Given the description of an element on the screen output the (x, y) to click on. 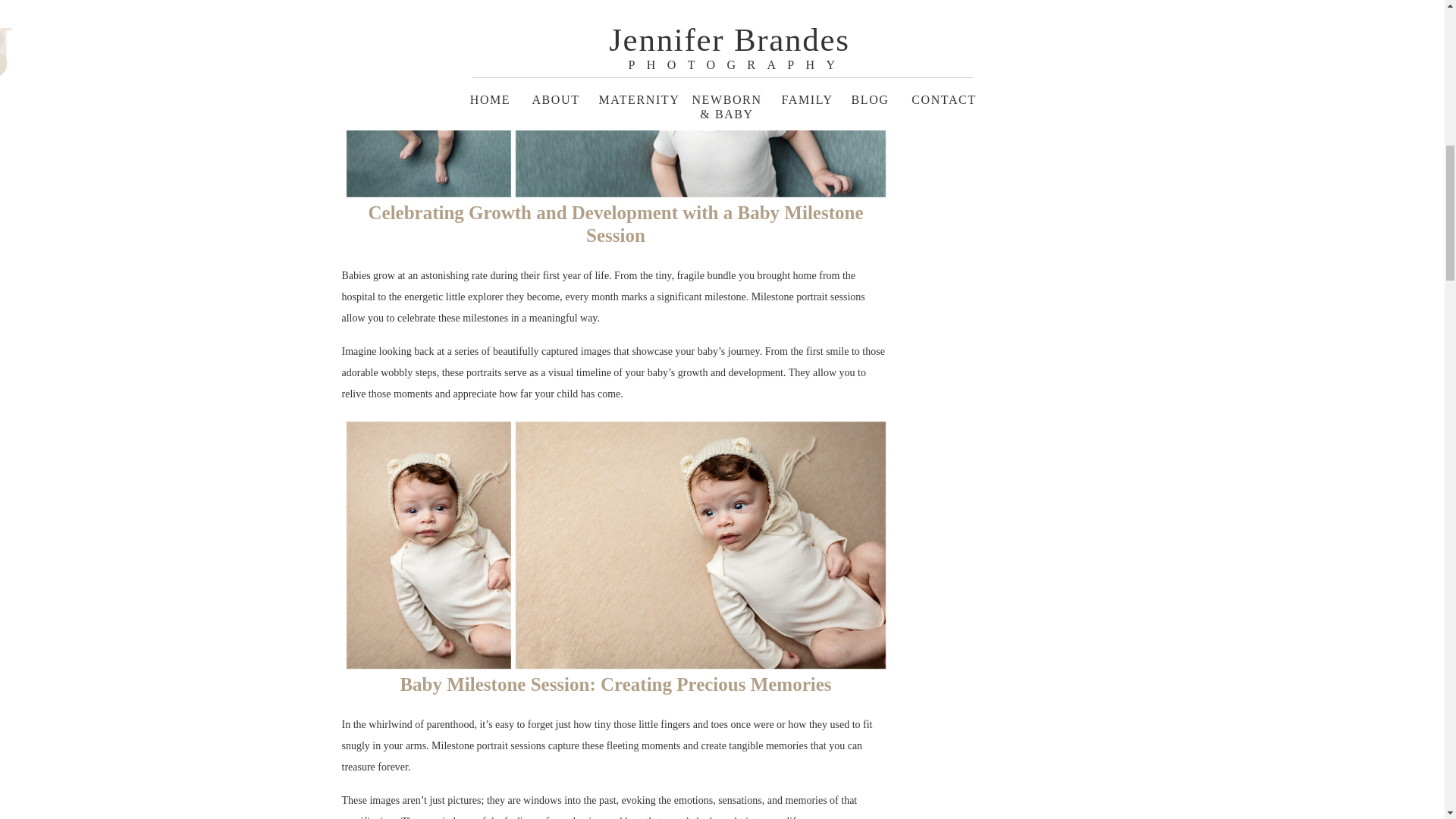
FAMILY (1016, 12)
ADVICE (1114, 12)
